Given the description of an element on the screen output the (x, y) to click on. 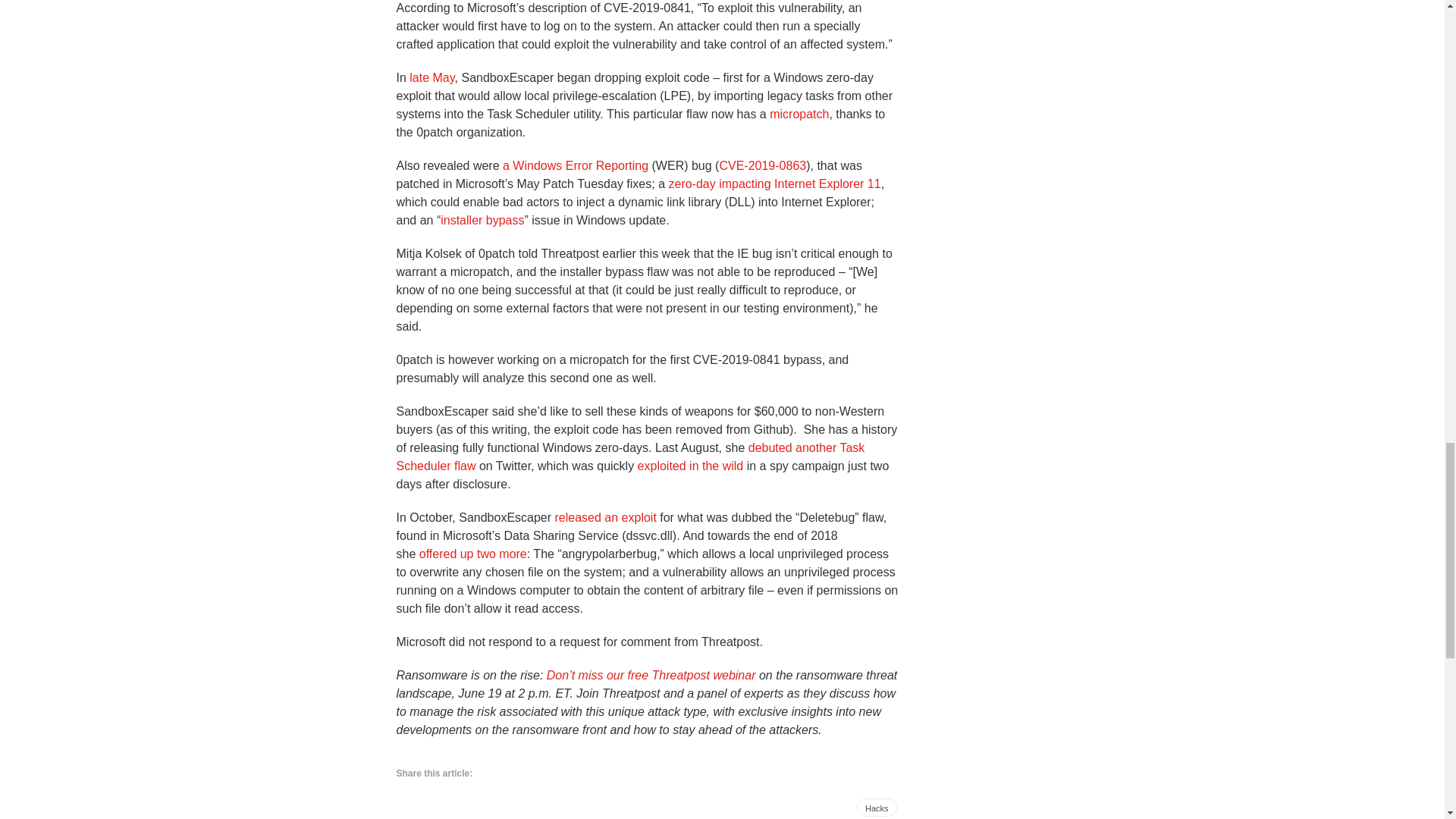
a Windows Error Reporting (574, 164)
micropatch (799, 113)
offered up two more (473, 553)
CVE-2019-0863 (762, 164)
exploited in the wild (690, 465)
Hacks (876, 807)
zero-day impacting Internet Explorer 11 (774, 183)
debuted another Task Scheduler flaw (630, 456)
released an exploit (605, 517)
installer bypass (482, 219)
